Given the description of an element on the screen output the (x, y) to click on. 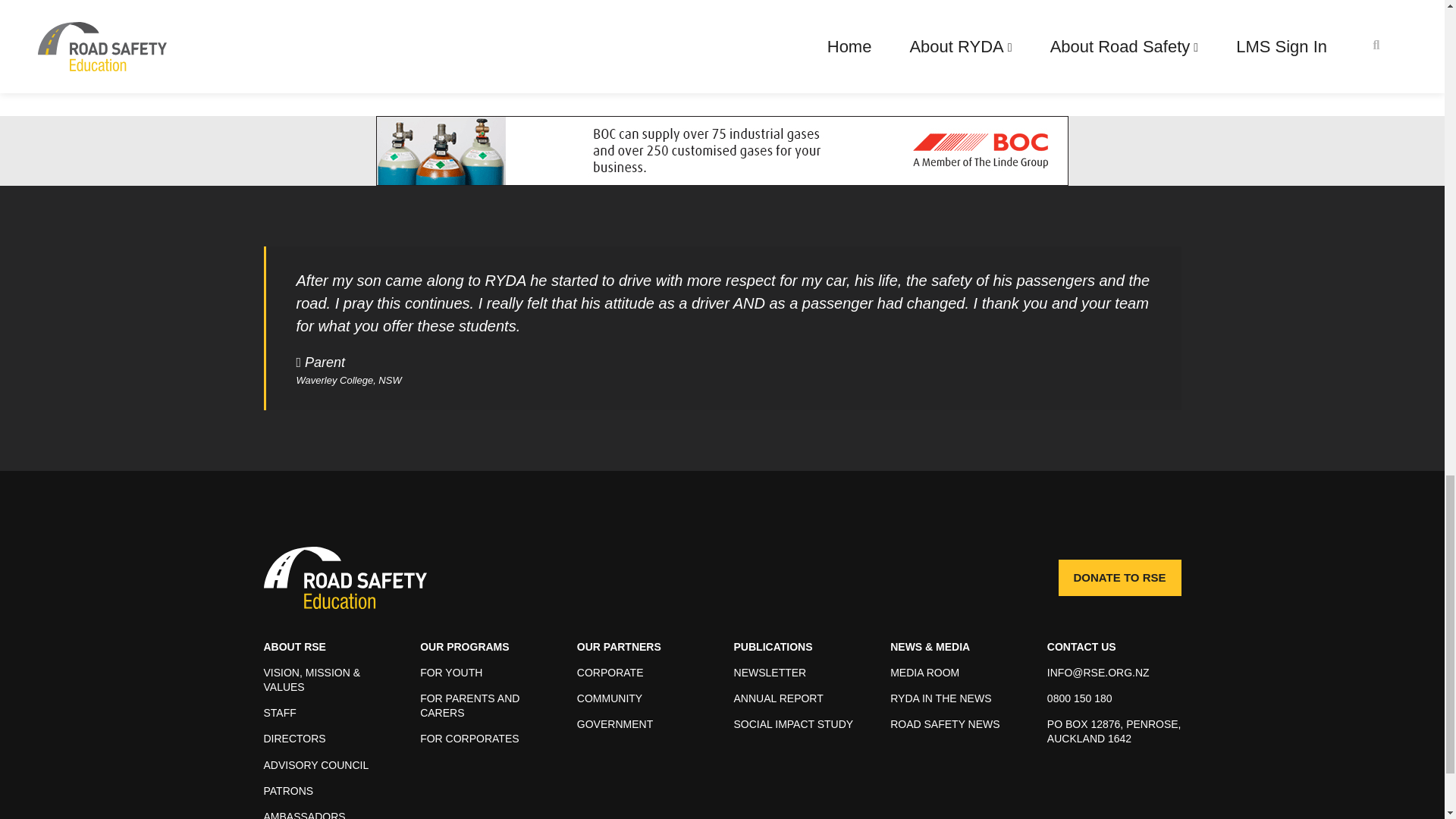
DONATE TO RSE (1119, 578)
